Given the description of an element on the screen output the (x, y) to click on. 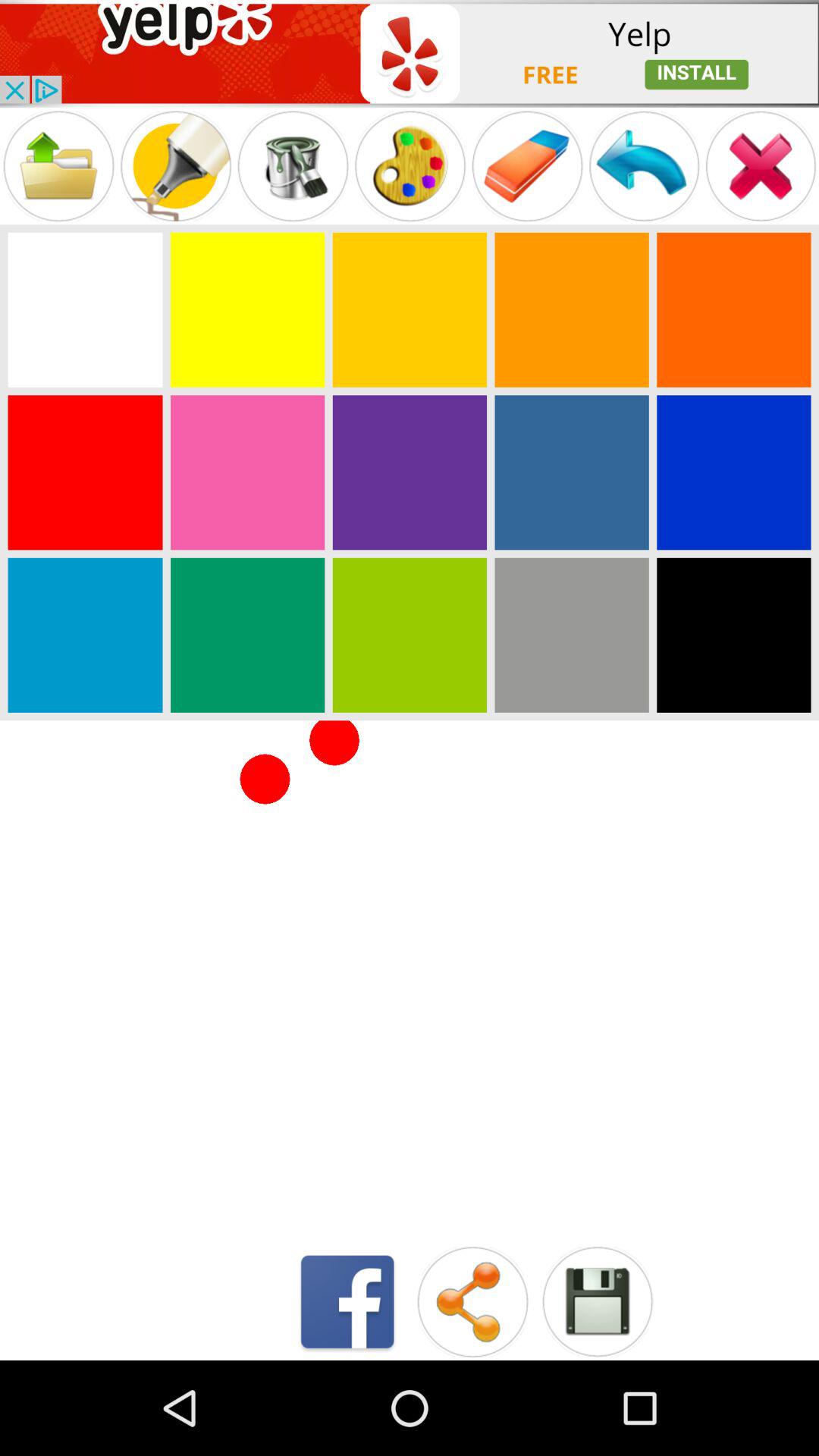
select yellow (247, 309)
